Given the description of an element on the screen output the (x, y) to click on. 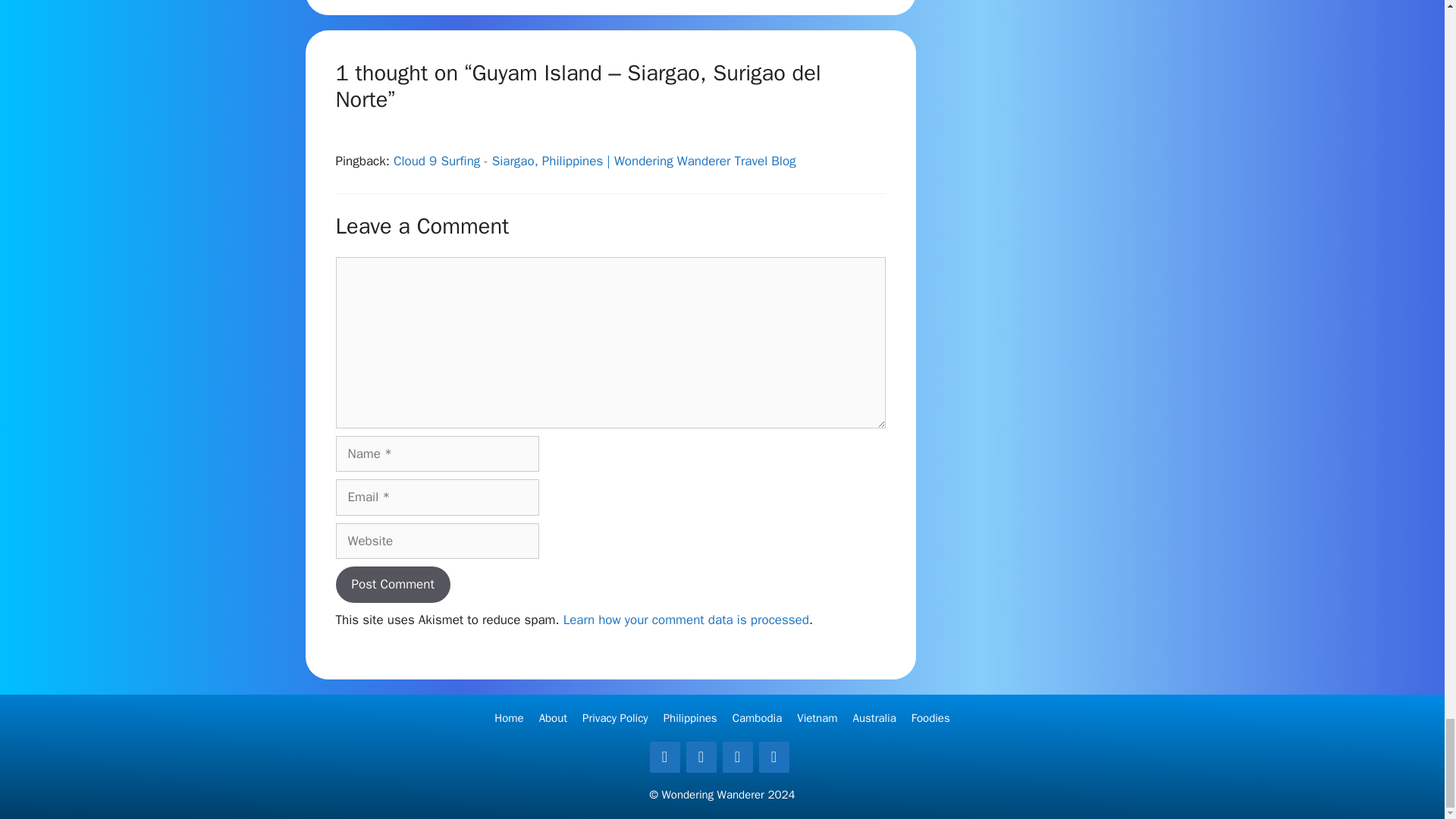
Twitter (700, 757)
YouTube (773, 757)
Facebook (664, 757)
Post Comment (391, 584)
Instagram (737, 757)
